Given the description of an element on the screen output the (x, y) to click on. 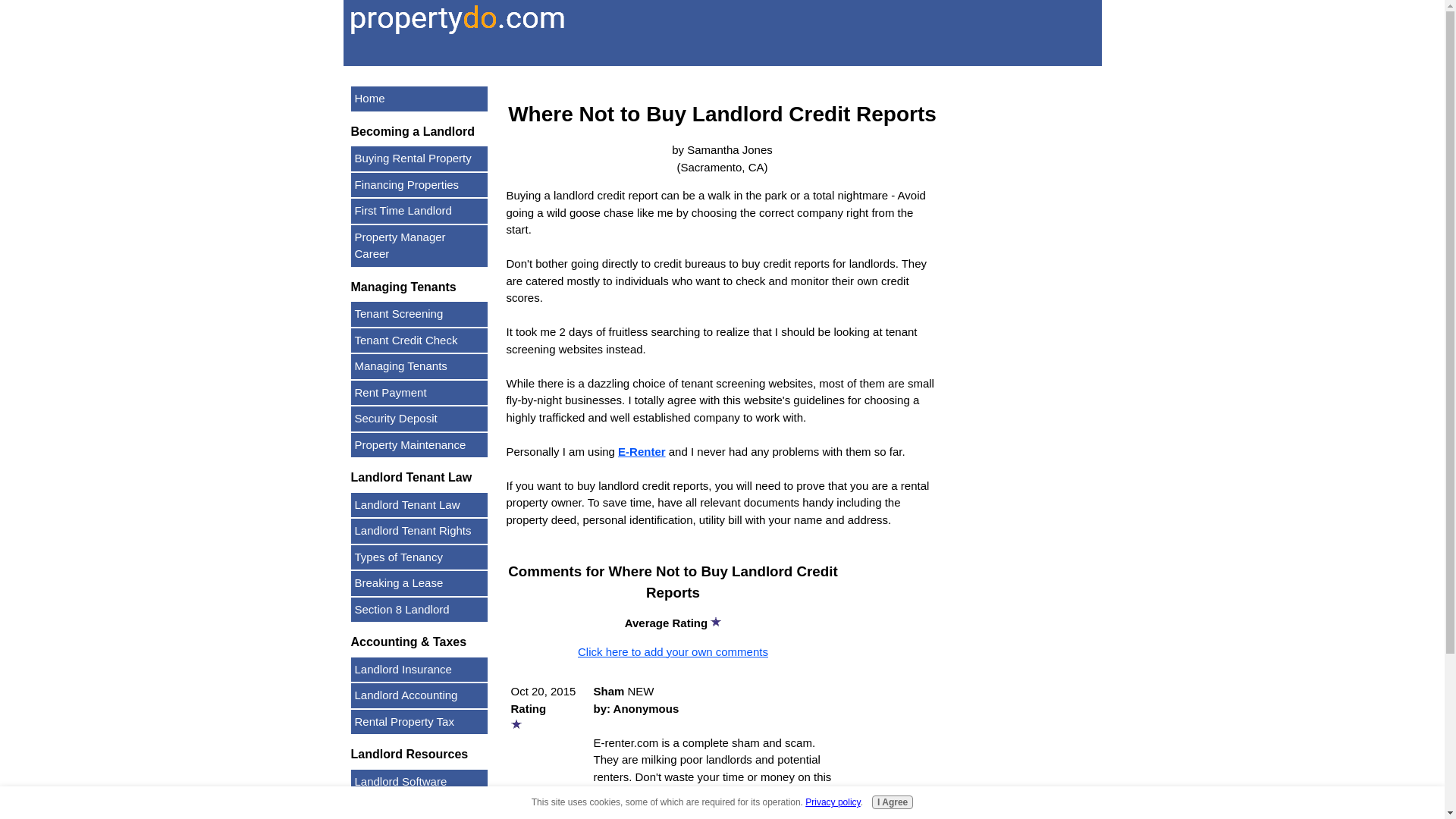
First Time Landlord (418, 211)
Landlord Accounting (418, 695)
Rent Payment (418, 392)
Types of Tenancy (418, 556)
Landlord Tenant Forms (418, 807)
Property Maintenance (418, 444)
E-Renter (641, 450)
Breaking a Lease (418, 583)
Click here to add your own comments (673, 650)
Security Deposit (418, 418)
Property Manager Career (418, 245)
Landlord Software (418, 781)
Tenant Screening (418, 314)
Rental Property Tax (418, 722)
